Given the description of an element on the screen output the (x, y) to click on. 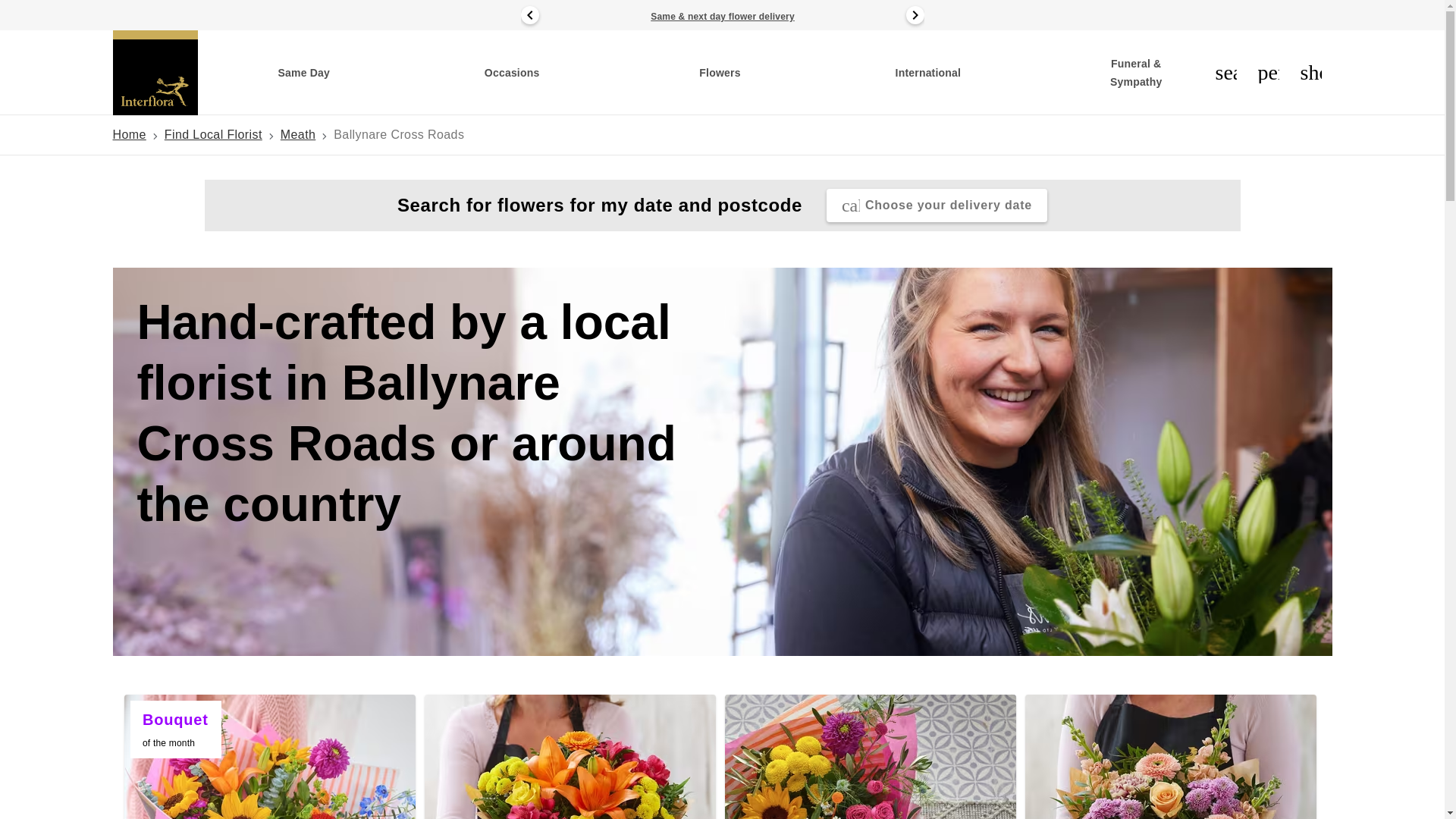
Same Day (304, 72)
